Given the description of an element on the screen output the (x, y) to click on. 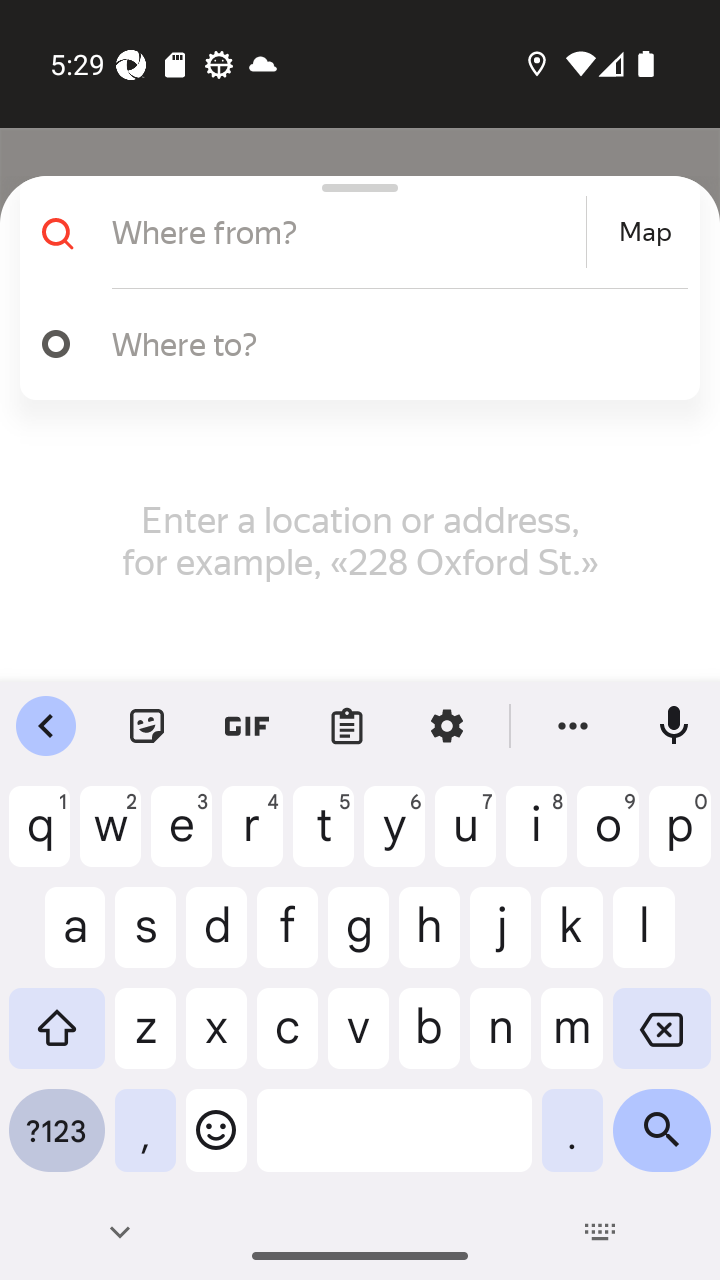
Where from? Map Map (352, 232)
Map (645, 232)
Where from? (346, 232)
Where to? (352, 343)
Where to? (390, 343)
